Given the description of an element on the screen output the (x, y) to click on. 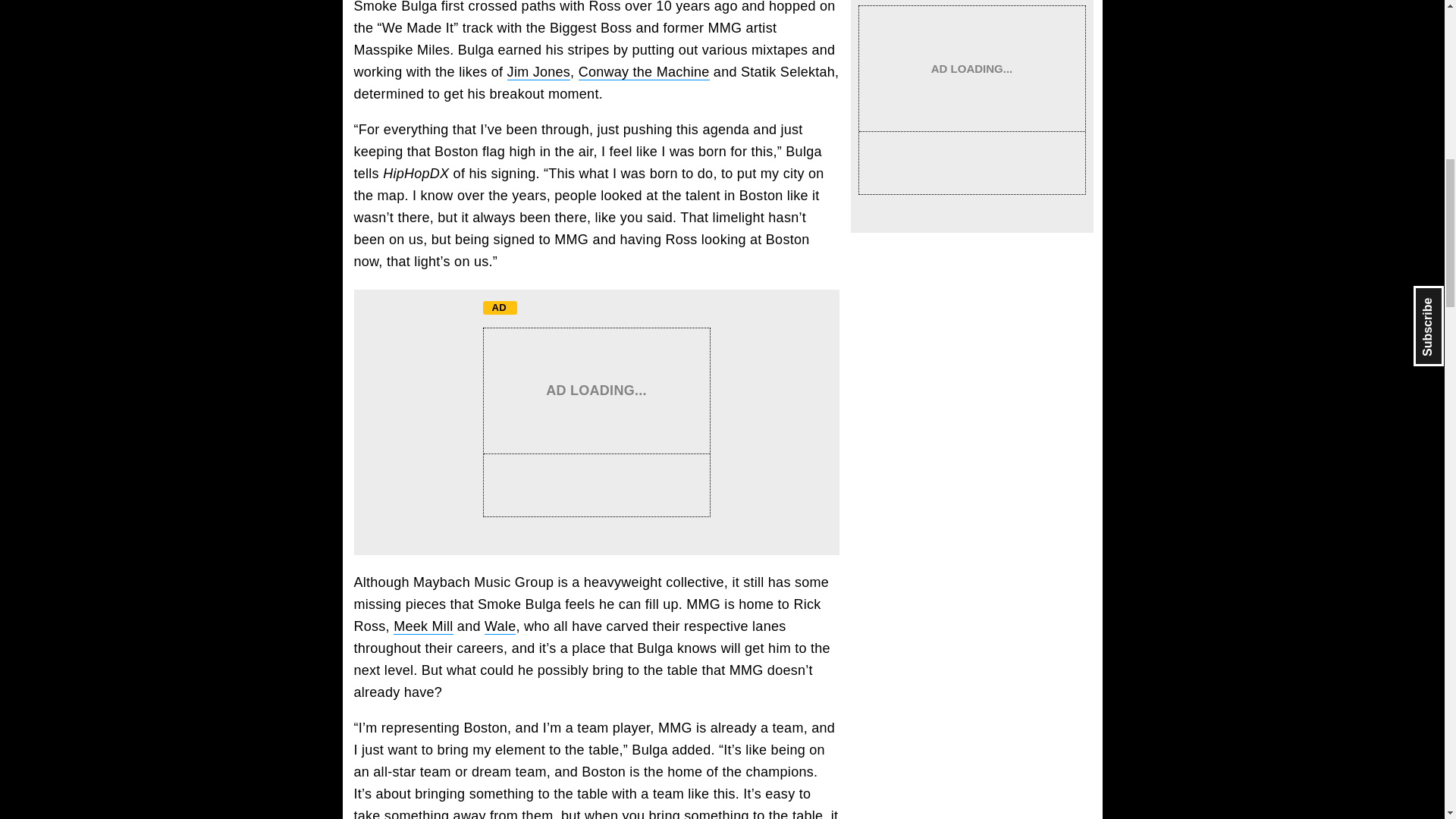
Wale (499, 626)
Meek Mill (422, 626)
Conway the Machine (644, 72)
Jim Jones (538, 72)
